Given the description of an element on the screen output the (x, y) to click on. 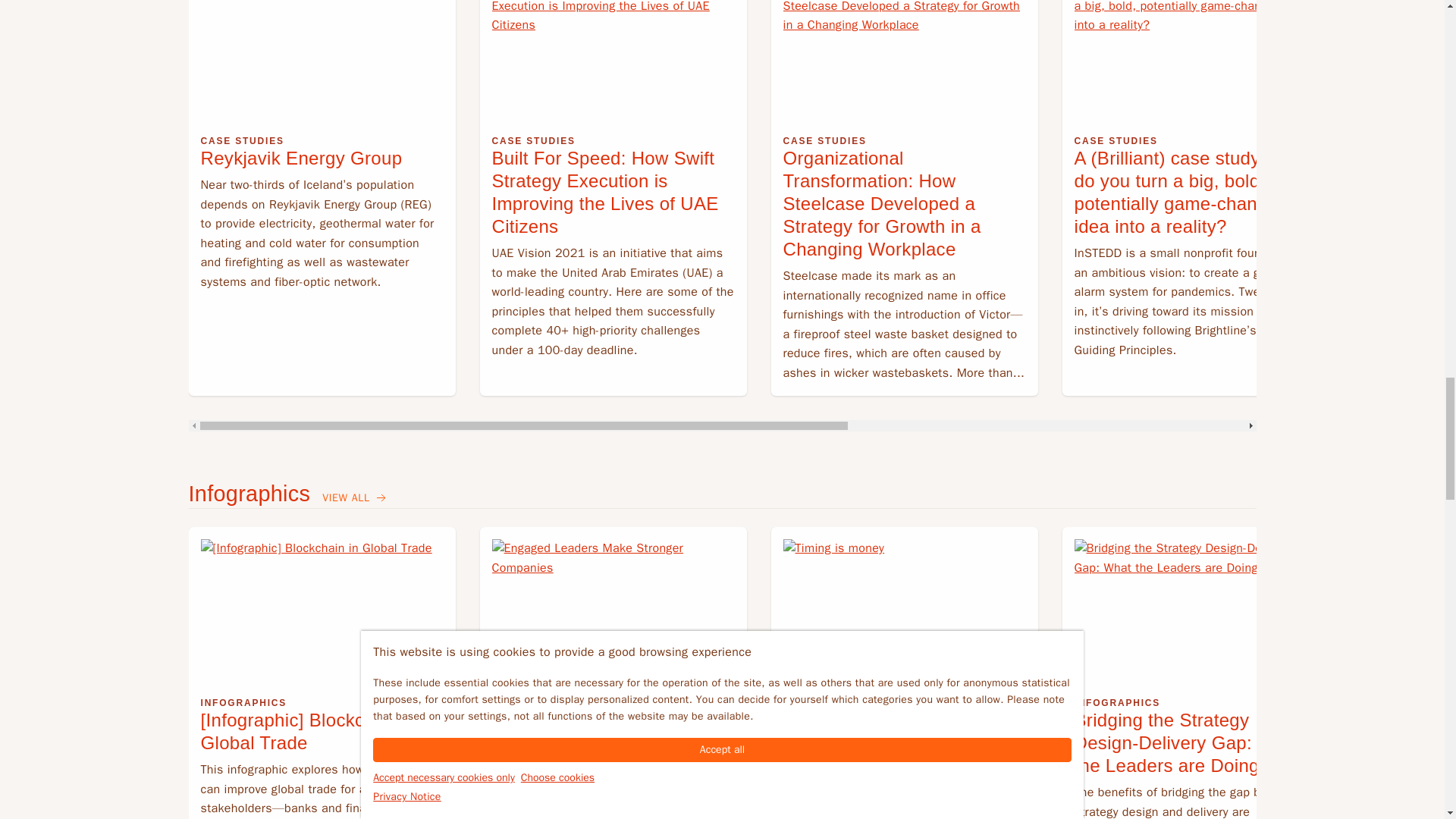
View all Infographics (354, 498)
